Given the description of an element on the screen output the (x, y) to click on. 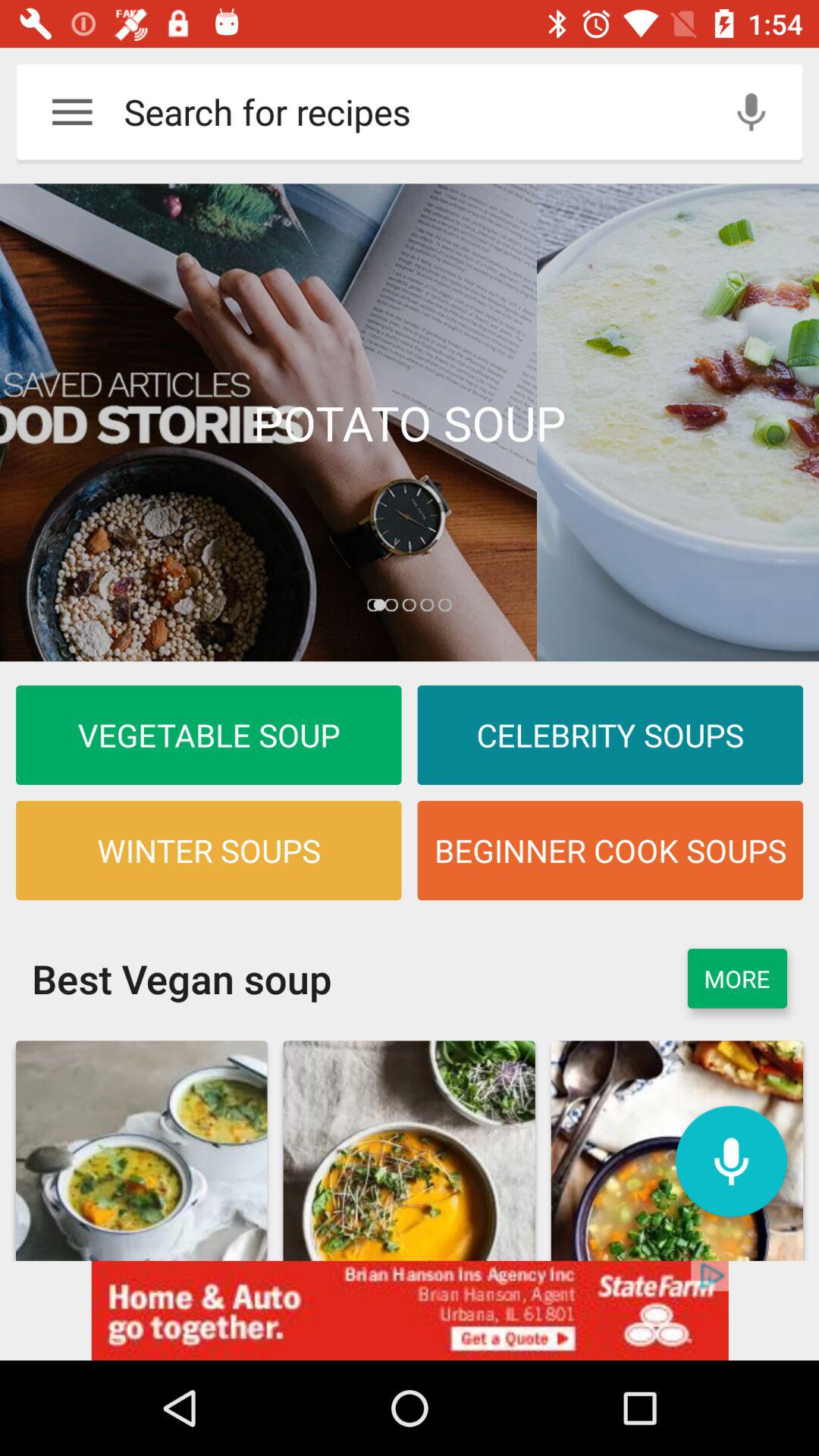
mick (731, 1161)
